Given the description of an element on the screen output the (x, y) to click on. 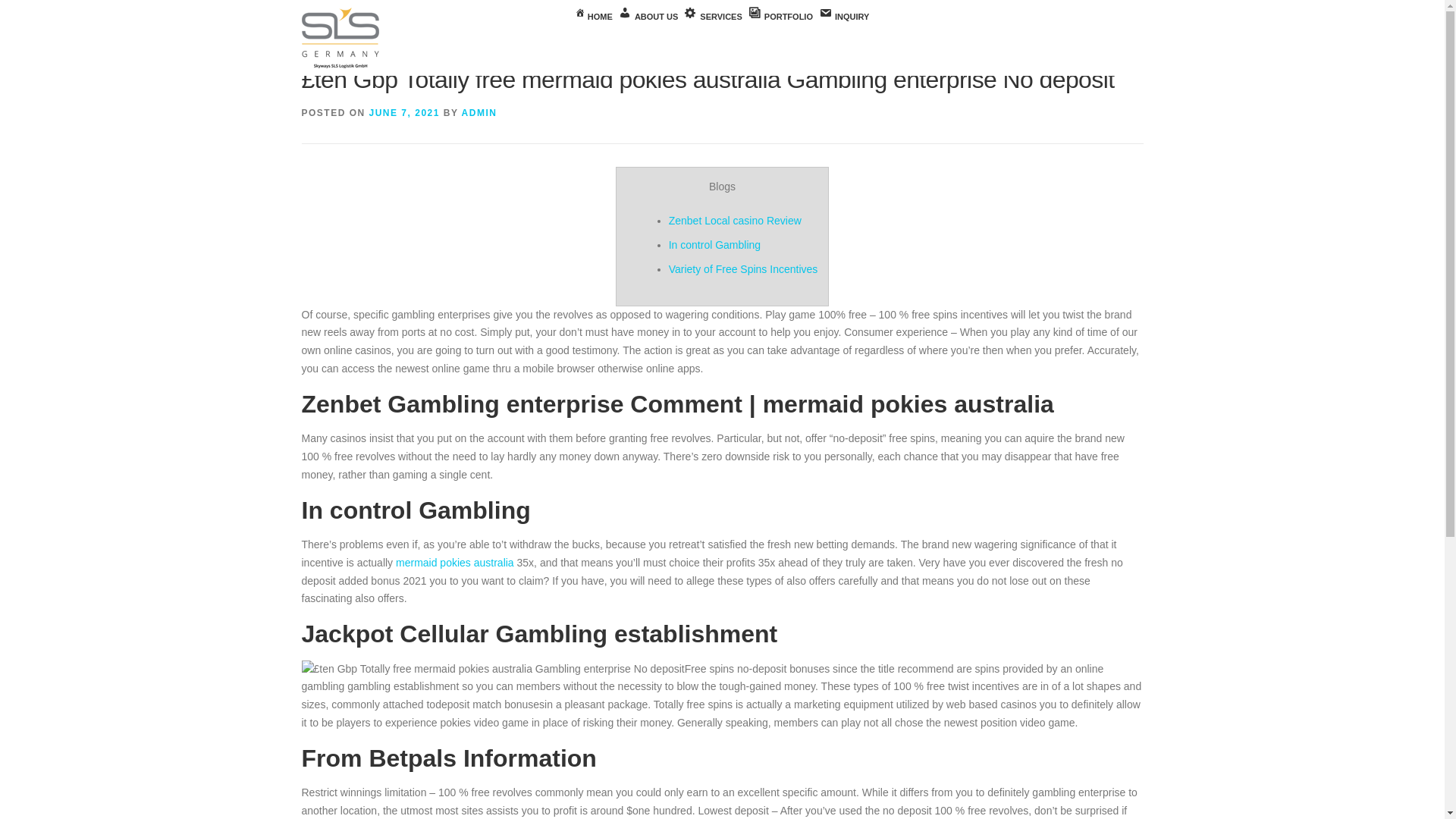
SERVICES (713, 16)
INQUIRY (843, 16)
ABOUT US (648, 16)
mermaid pokies australia (454, 562)
In control Gambling (714, 244)
HOME (593, 16)
PORTFOLIO (779, 16)
Skip to content (34, 9)
Zenbet Local casino Review (735, 220)
JUNE 7, 2021 (404, 112)
